Given the description of an element on the screen output the (x, y) to click on. 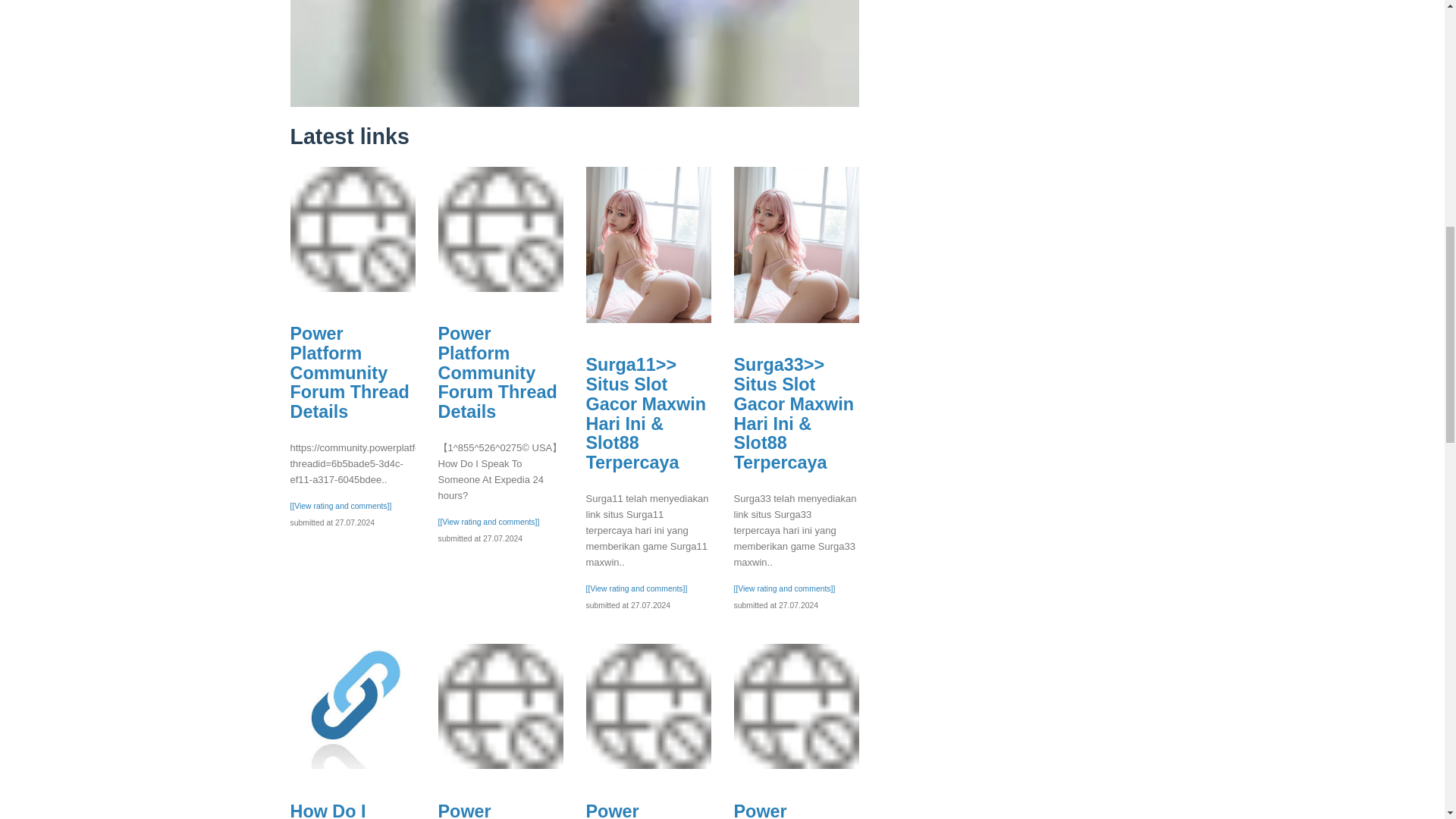
Power Platform Community Forum Thread Details (497, 372)
Power Platform Community Forum Thread Details (647, 706)
How Do I Speak To Someone At Expedia 24 hours? (349, 372)
Power Platform Community Forum Thread Details (351, 706)
Power Platform Community Forum Thread Details (793, 810)
Power Platform Community Forum Thread Details (497, 810)
			Power Platform Community Forum Thread Details		 (644, 810)
			Power Platform Community Forum Thread Details		 (351, 229)
How Do I Speak To Someone At Expedia 24 hours? (500, 229)
			Power Platform Community Forum Thread Details		 (341, 810)
			Power Platform Community Forum Thread Details		 (500, 706)
